Given the description of an element on the screen output the (x, y) to click on. 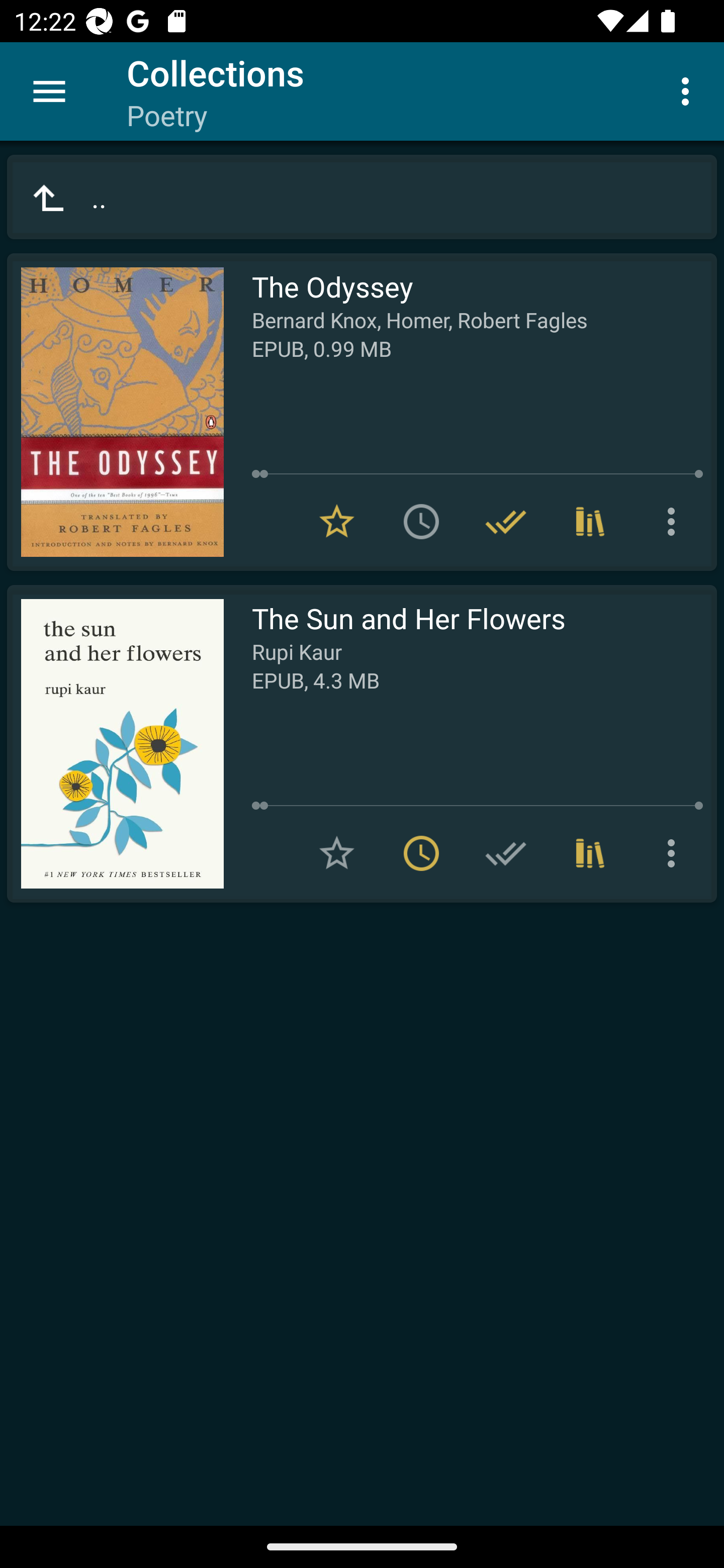
Menu (49, 91)
More options (688, 90)
.. (361, 197)
Read The Odyssey (115, 412)
Remove from Favorites (336, 521)
Add to To read (421, 521)
Remove from Have read (505, 521)
Collections (2) (590, 521)
More options (674, 521)
Read The Sun and Her Flowers (115, 743)
Add to Favorites (336, 852)
Remove from To read (421, 852)
Add to Have read (505, 852)
Collections (1) (590, 852)
More options (674, 852)
